Given the description of an element on the screen output the (x, y) to click on. 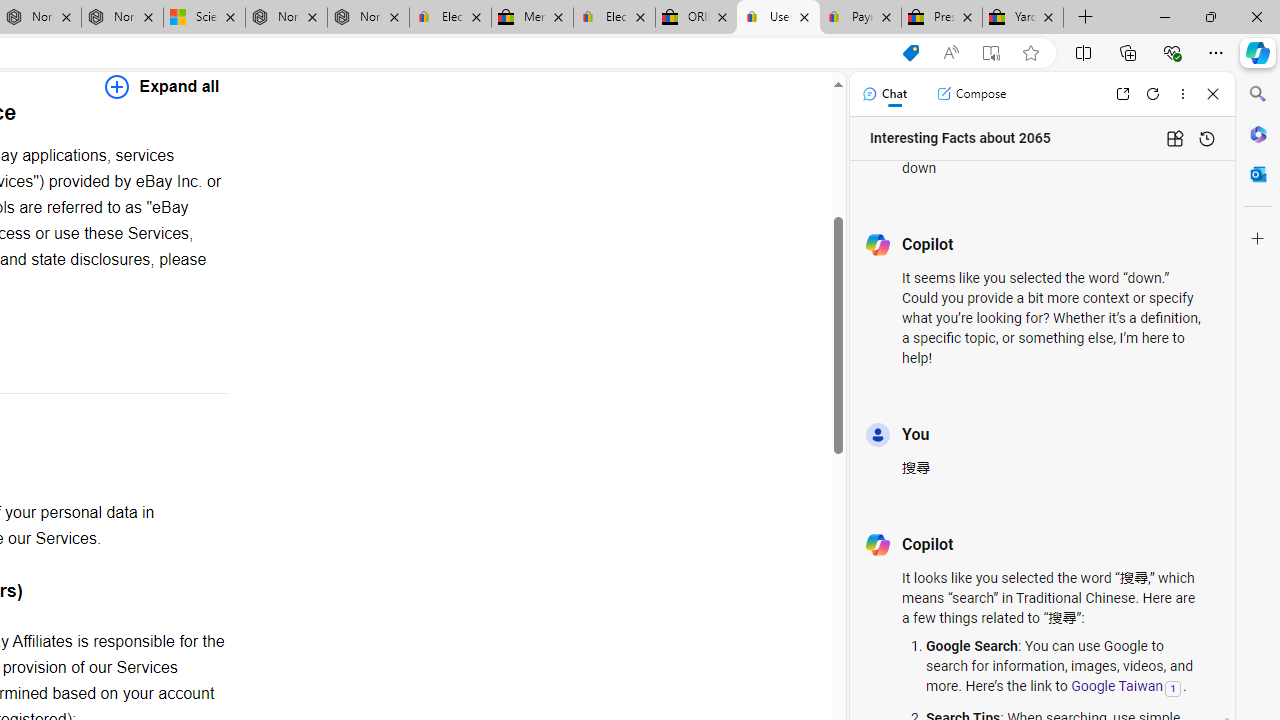
Expand all (162, 86)
Compose (971, 93)
